Given the description of an element on the screen output the (x, y) to click on. 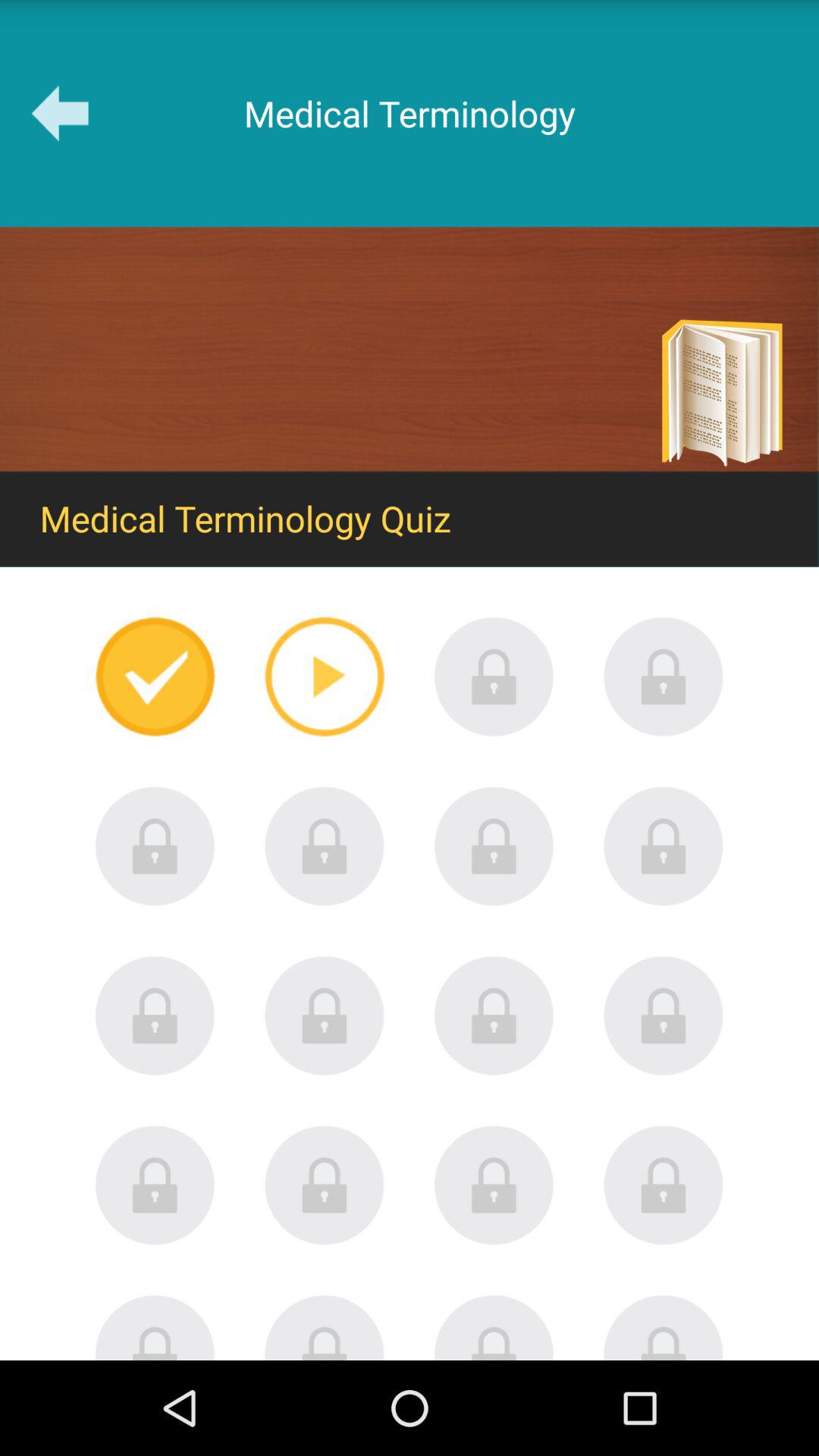
level locked (663, 676)
